Given the description of an element on the screen output the (x, y) to click on. 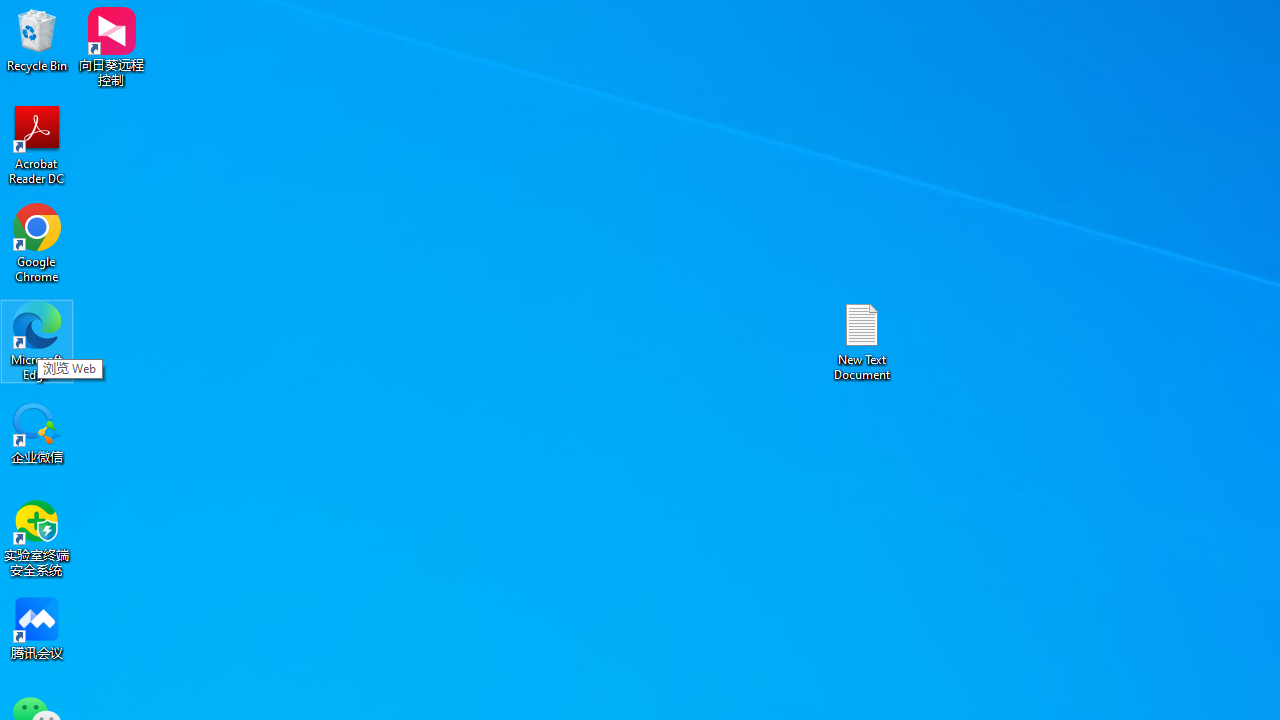
Google Chrome (37, 242)
New Text Document (861, 340)
Microsoft Edge (37, 340)
Acrobat Reader DC (37, 144)
Recycle Bin (37, 39)
